Given the description of an element on the screen output the (x, y) to click on. 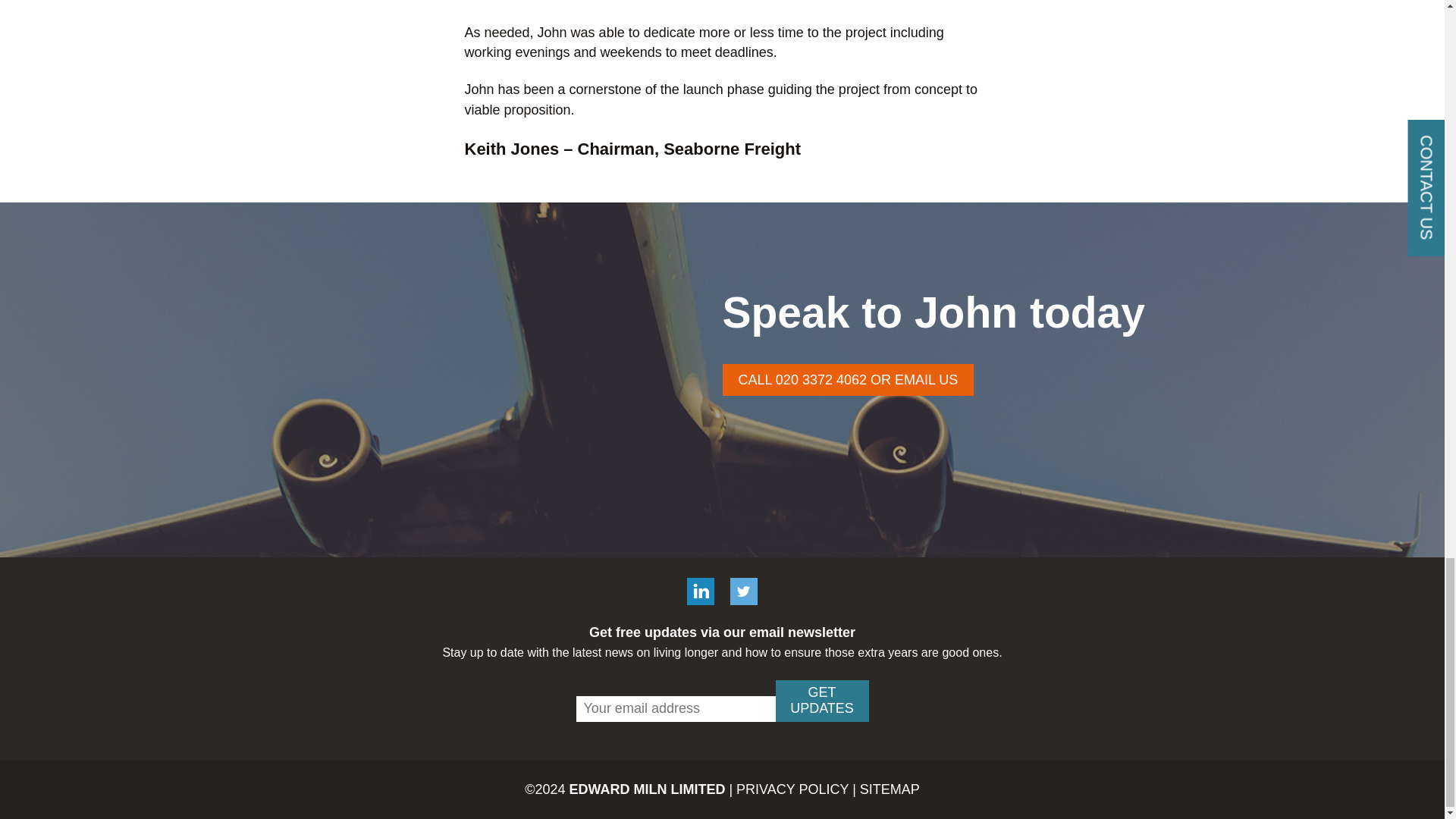
SITEMAP (890, 789)
PRIVACY POLICY (792, 789)
CALL 020 3372 4062 OR EMAIL US (848, 379)
GET UPDATES (820, 701)
